Given the description of an element on the screen output the (x, y) to click on. 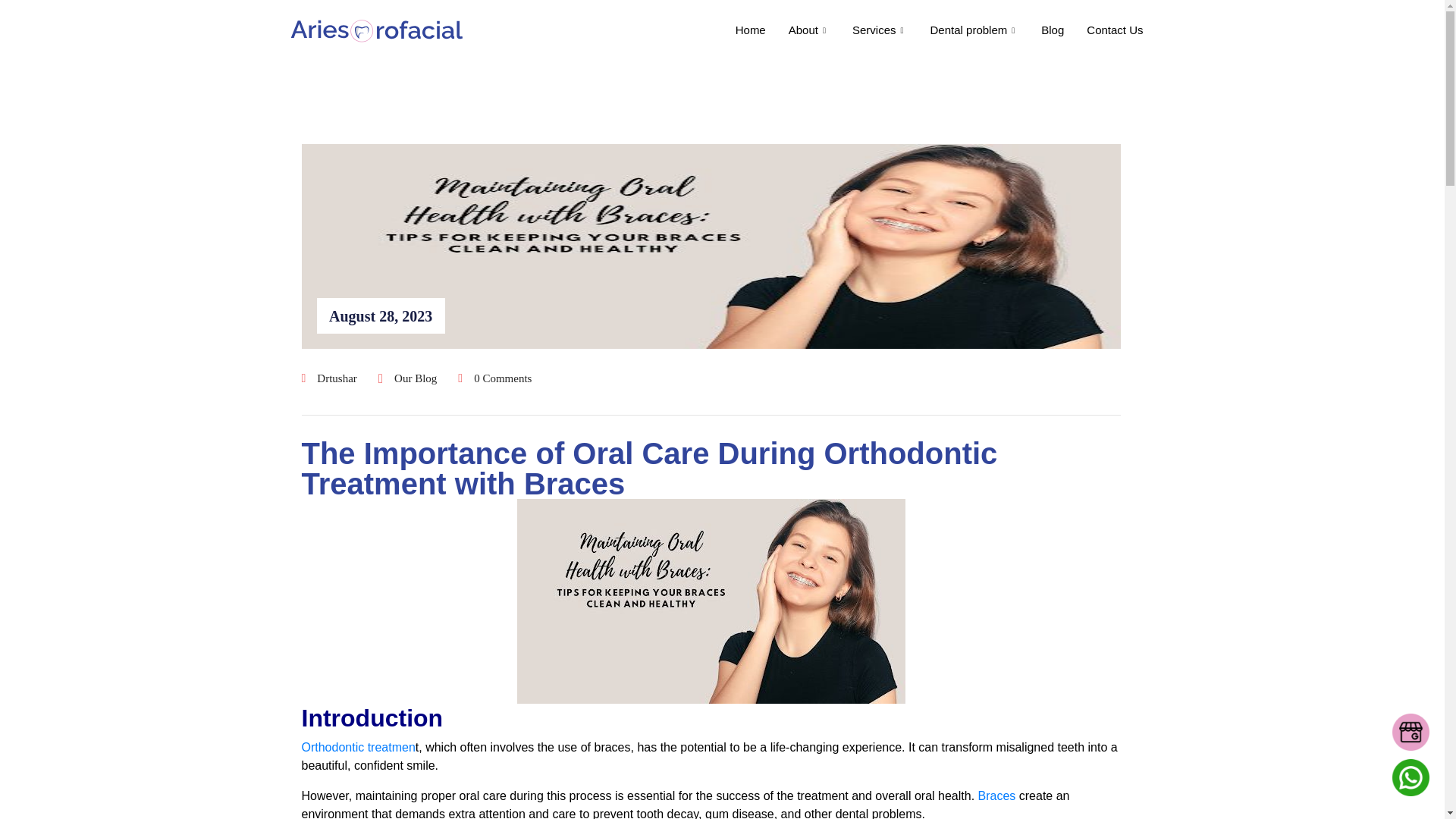
Services (879, 30)
About (809, 30)
